Given the description of an element on the screen output the (x, y) to click on. 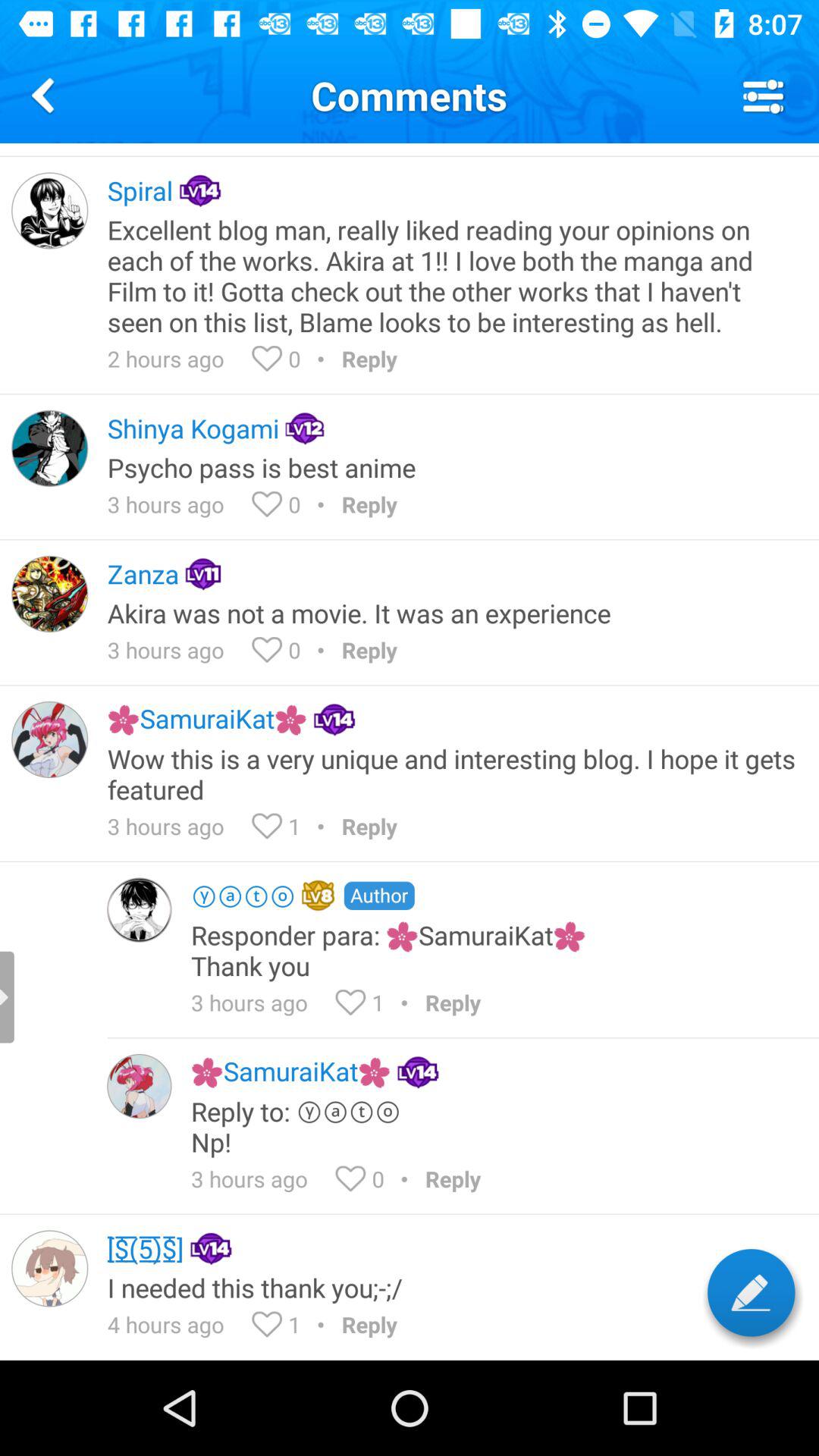
press icon above 3 hours ago (453, 774)
